Given the description of an element on the screen output the (x, y) to click on. 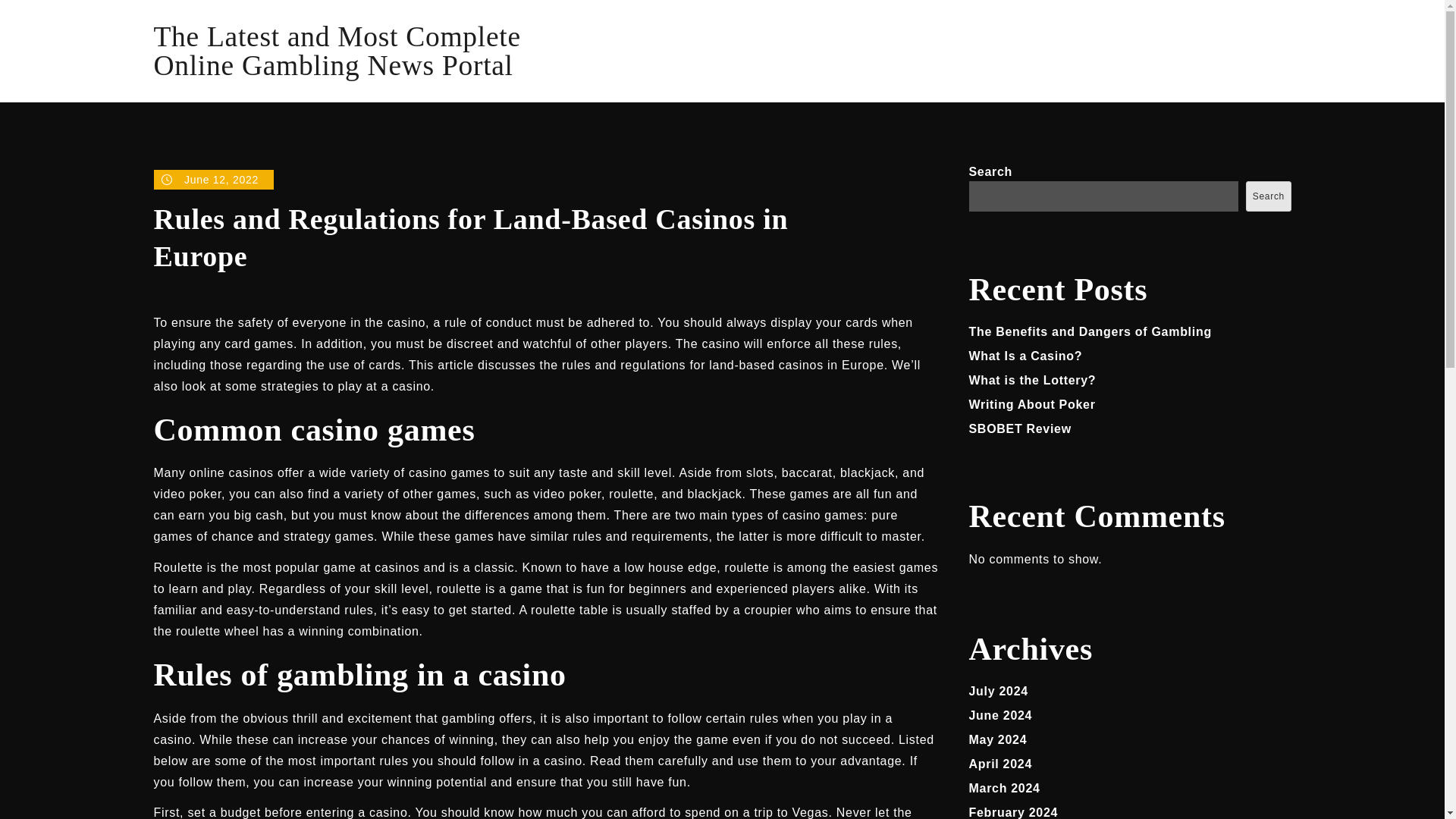
July 2024 (998, 690)
June 12, 2022 (212, 179)
March 2024 (1005, 788)
SBOBET Review (1020, 428)
The Benefits and Dangers of Gambling (1090, 331)
What Is a Casino? (1026, 355)
June 2024 (1000, 715)
The Latest and Most Complete Online Gambling News Portal (335, 51)
Search (1268, 195)
May 2024 (998, 739)
Writing About Poker (1032, 404)
What is the Lottery? (1032, 379)
April 2024 (1000, 763)
February 2024 (1013, 812)
